Given the description of an element on the screen output the (x, y) to click on. 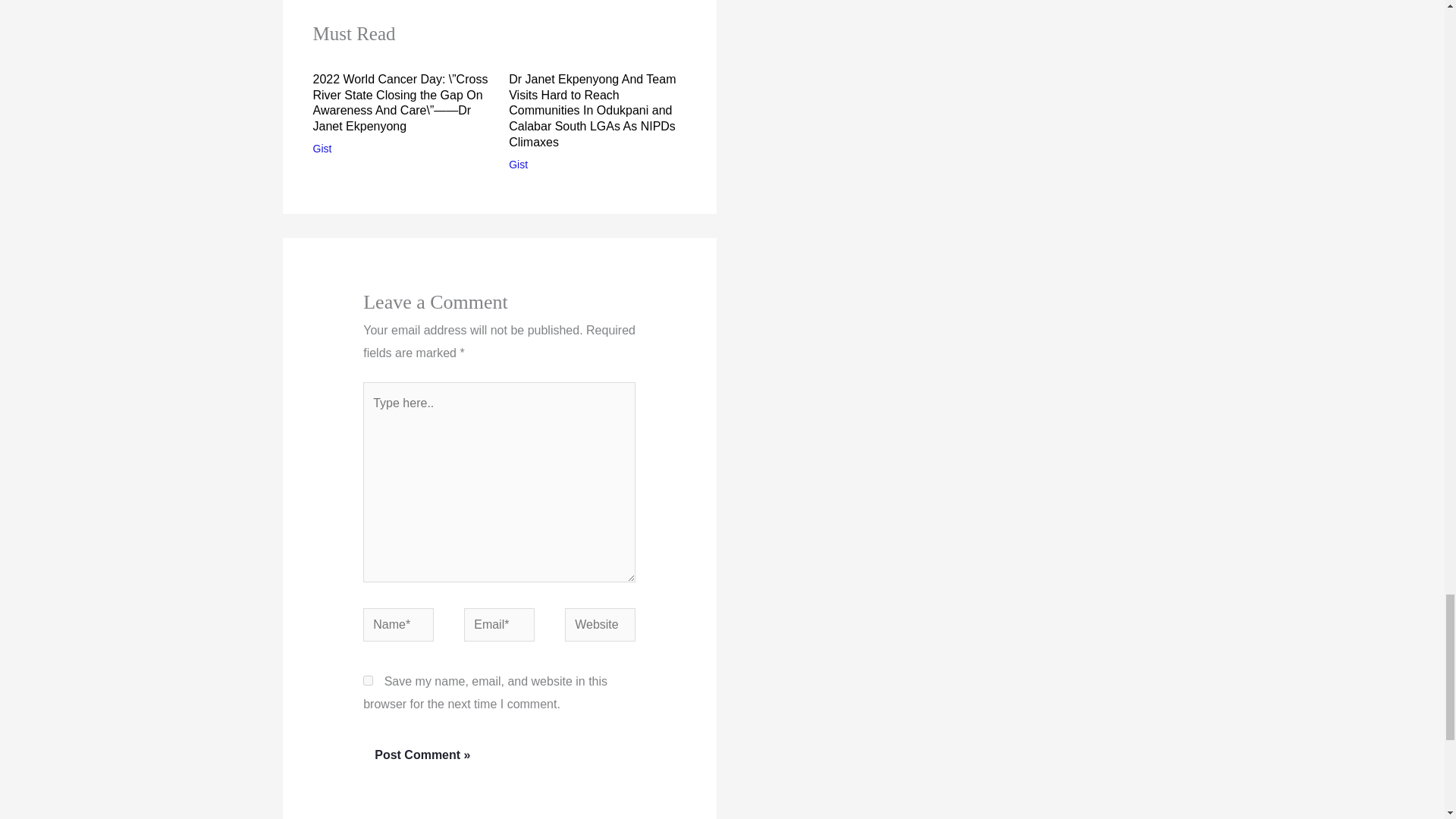
Gist (517, 164)
Gist (322, 148)
yes (367, 680)
